Given the description of an element on the screen output the (x, y) to click on. 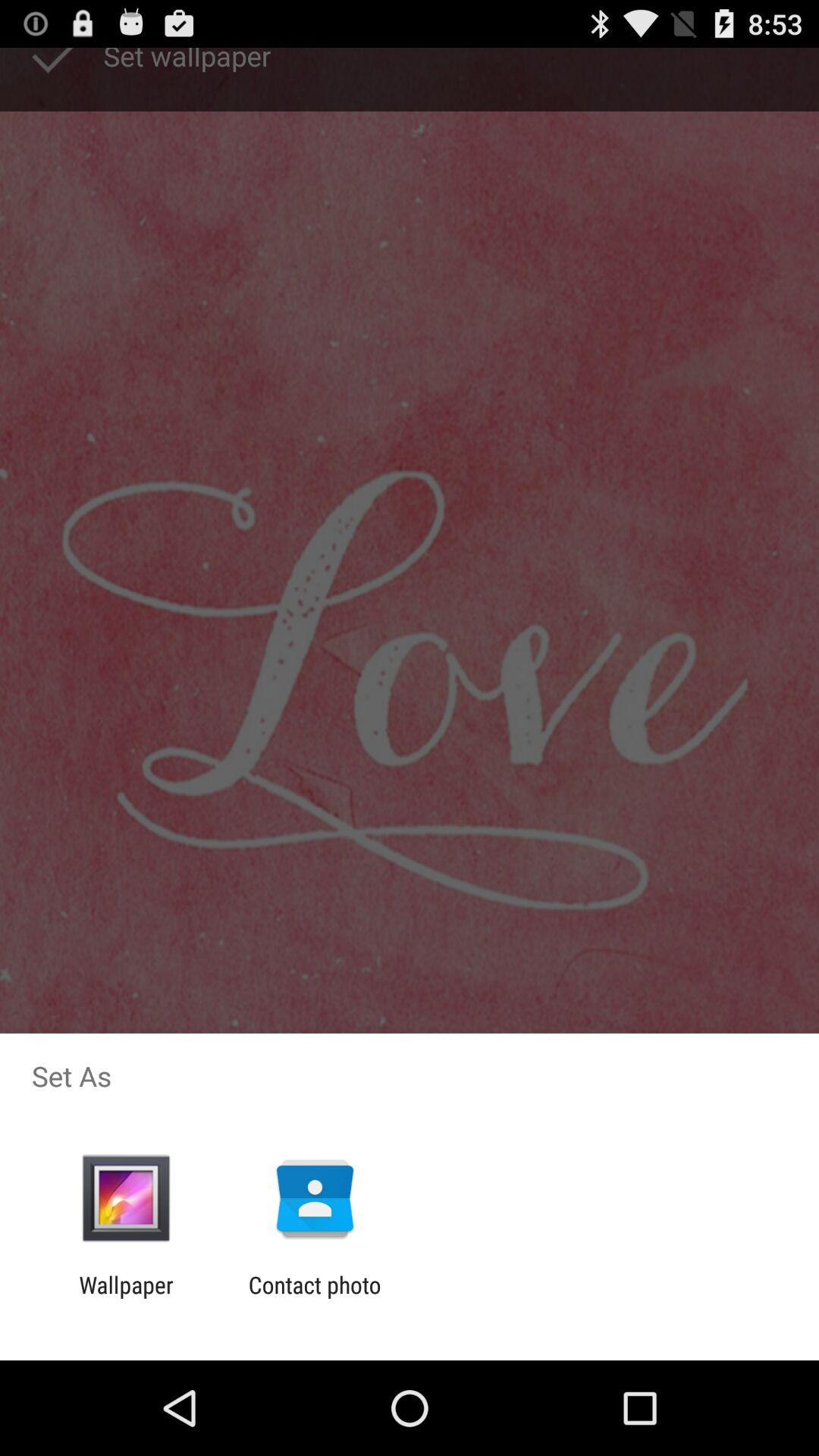
flip until the wallpaper (126, 1298)
